Given the description of an element on the screen output the (x, y) to click on. 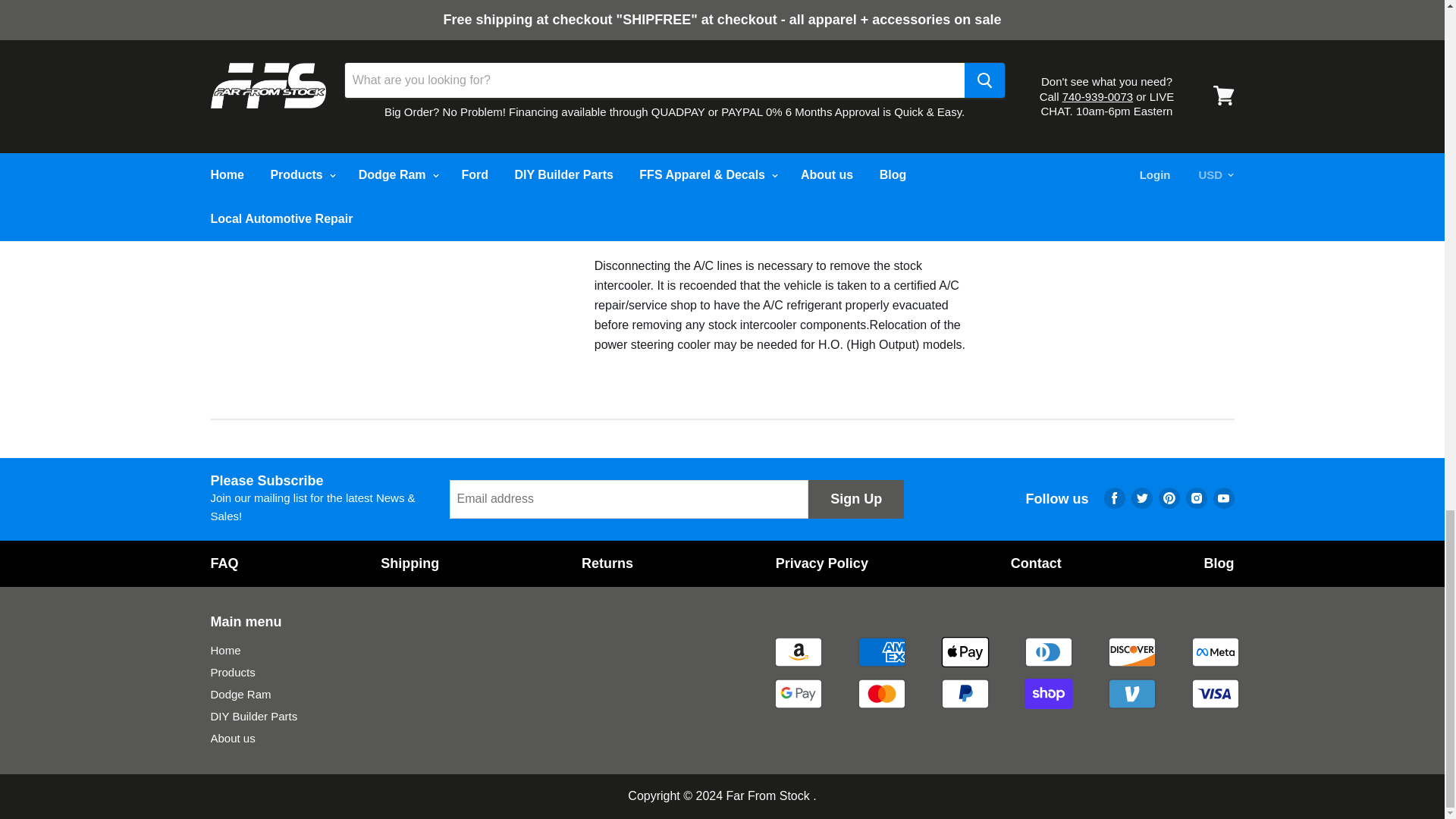
Pinterest (1169, 497)
Youtube (1223, 497)
Instagram (1195, 497)
Amazon (797, 652)
Twitter (1142, 497)
Apple Pay (964, 652)
American Express (880, 652)
Facebook (1114, 497)
